Given the description of an element on the screen output the (x, y) to click on. 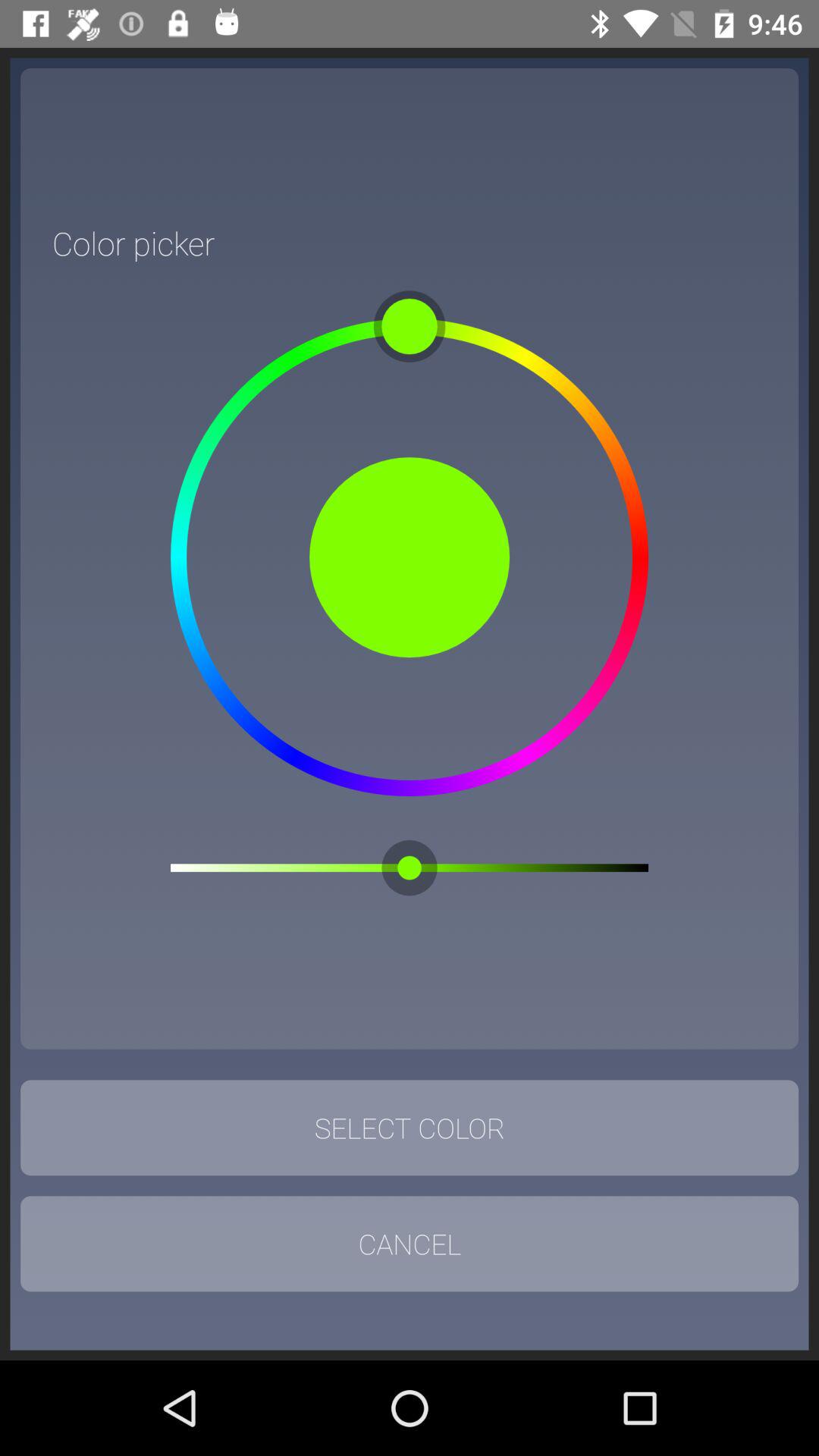
tap cancel (409, 1243)
